Given the description of an element on the screen output the (x, y) to click on. 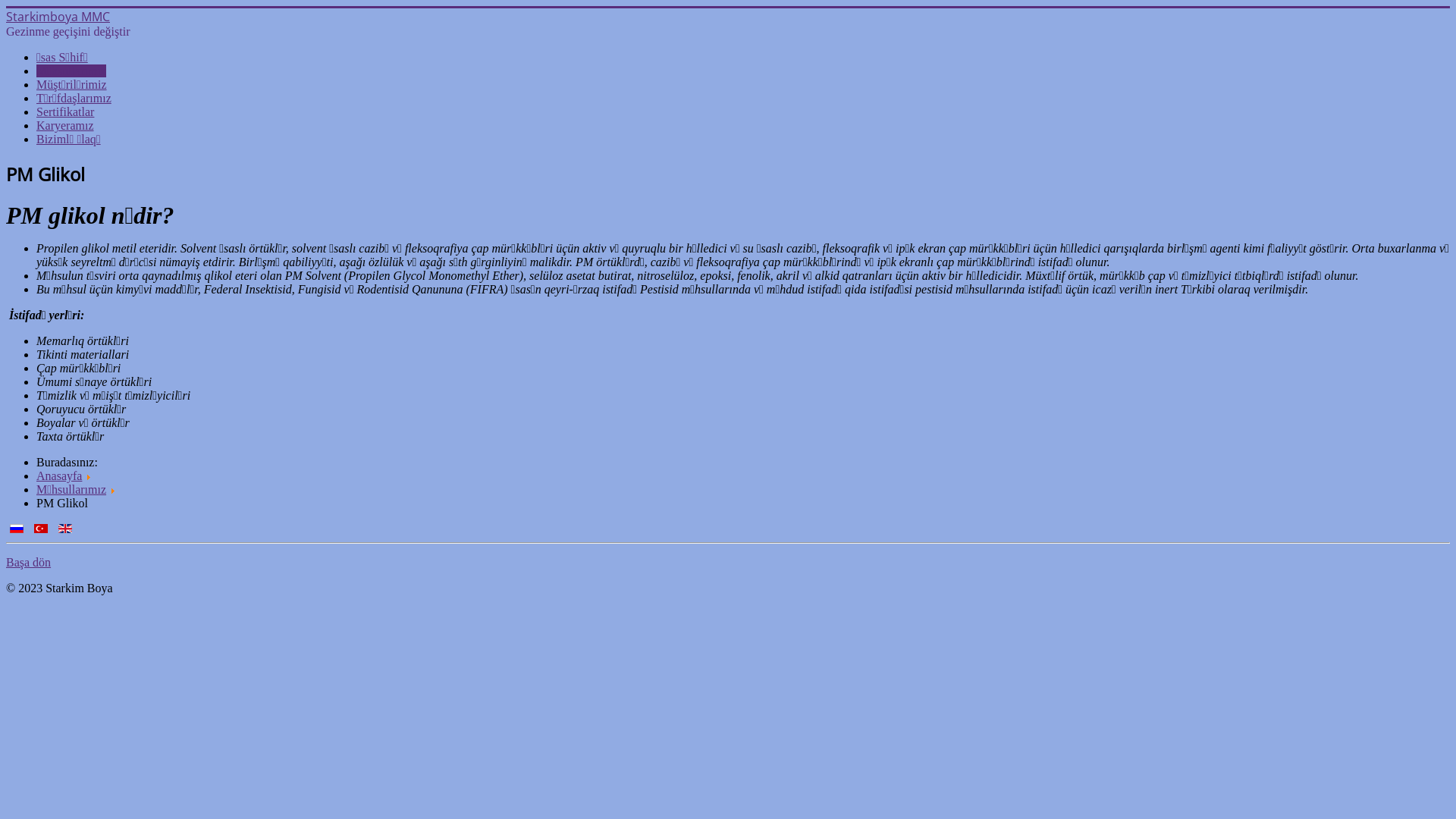
Russian (Russia) Element type: hover (16, 528)
Anasayfa Element type: text (58, 475)
Starkimboya MMC Element type: text (57, 16)
English (United Kingdom) Element type: hover (65, 528)
Sertifikatlar Element type: text (65, 111)
